Given the description of an element on the screen output the (x, y) to click on. 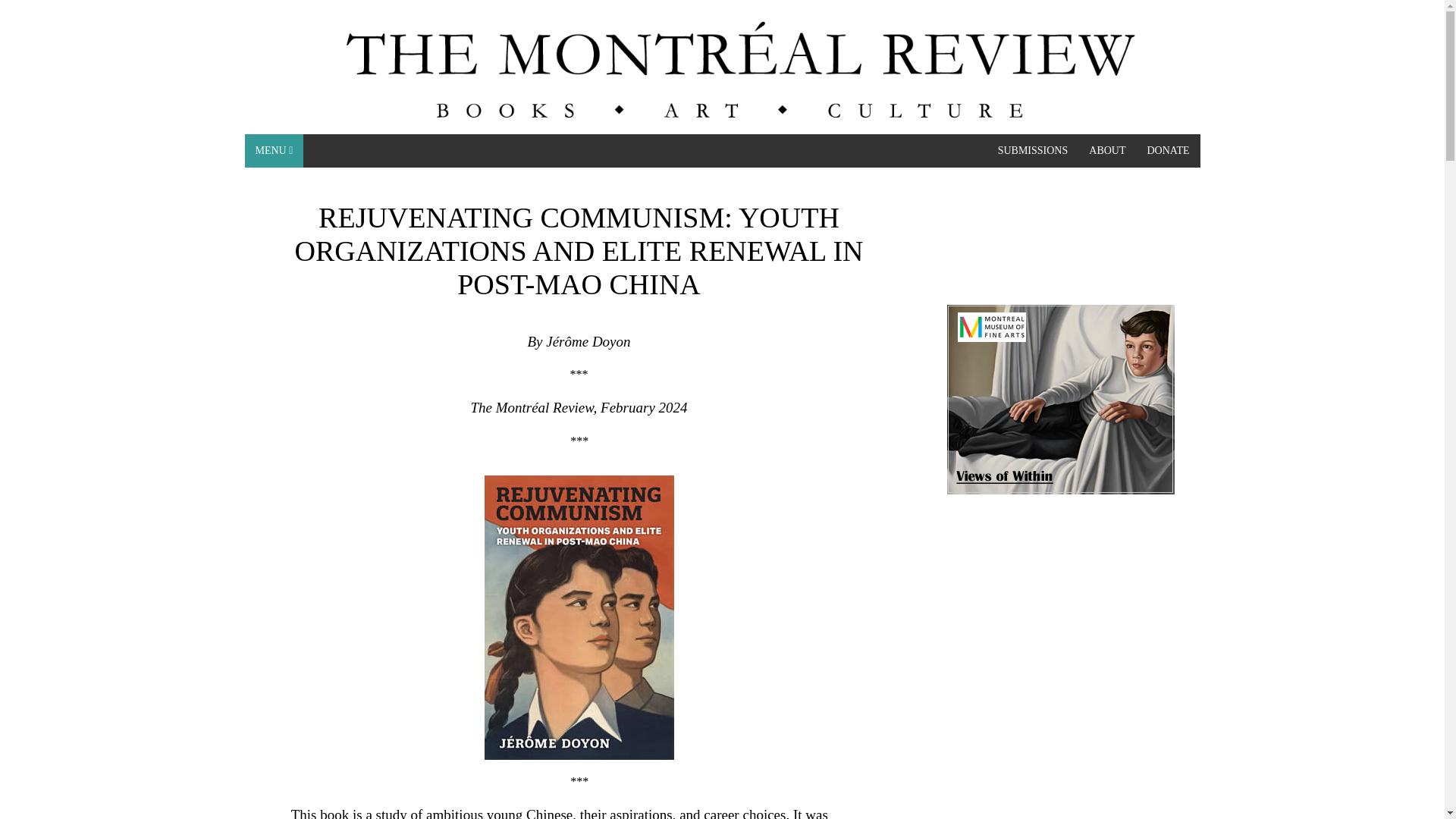
MENU (273, 150)
